Given the description of an element on the screen output the (x, y) to click on. 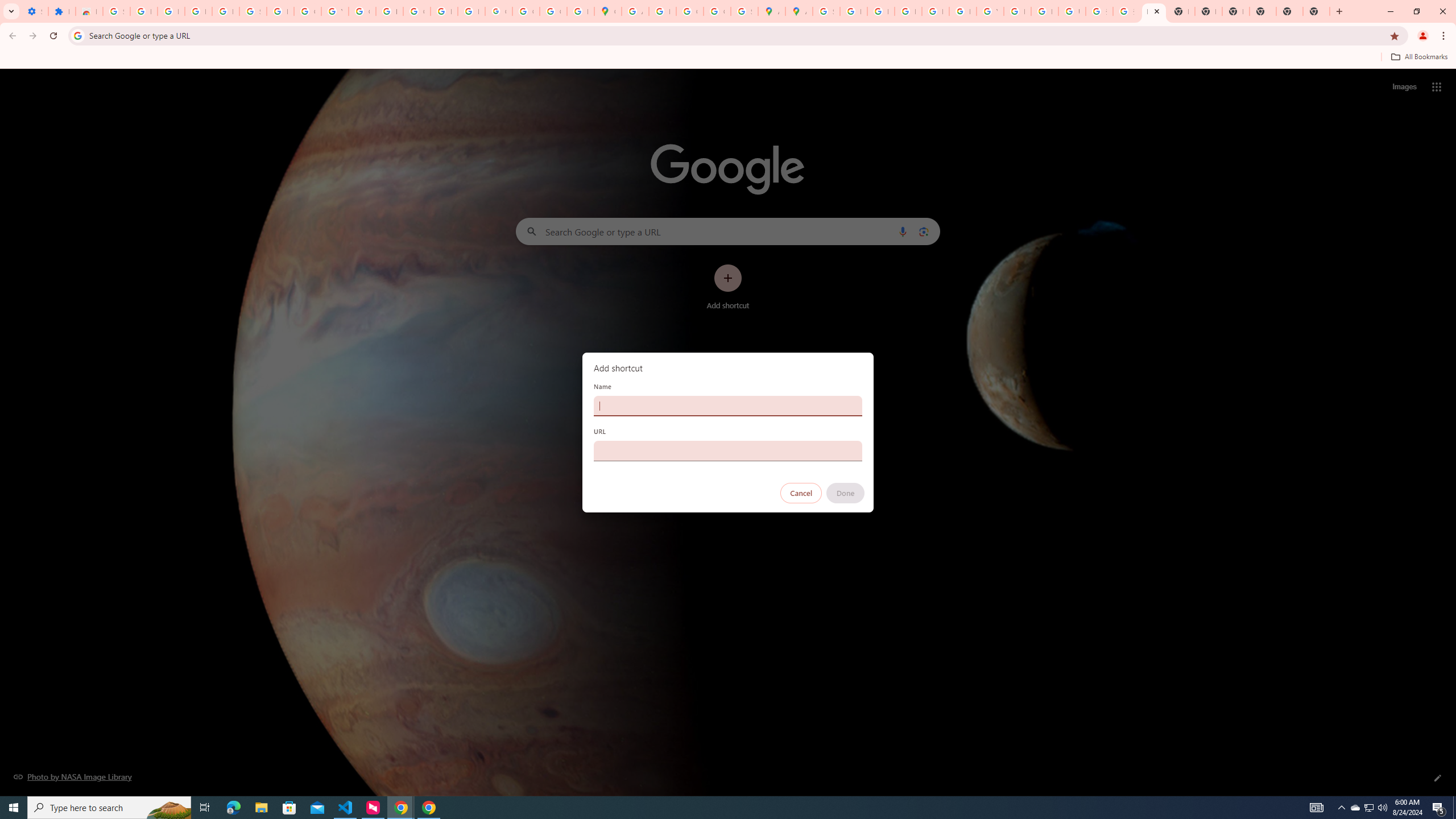
Bookmarks (728, 58)
Sign in - Google Accounts (253, 11)
Done (845, 493)
New Tab (1236, 11)
